Given the description of an element on the screen output the (x, y) to click on. 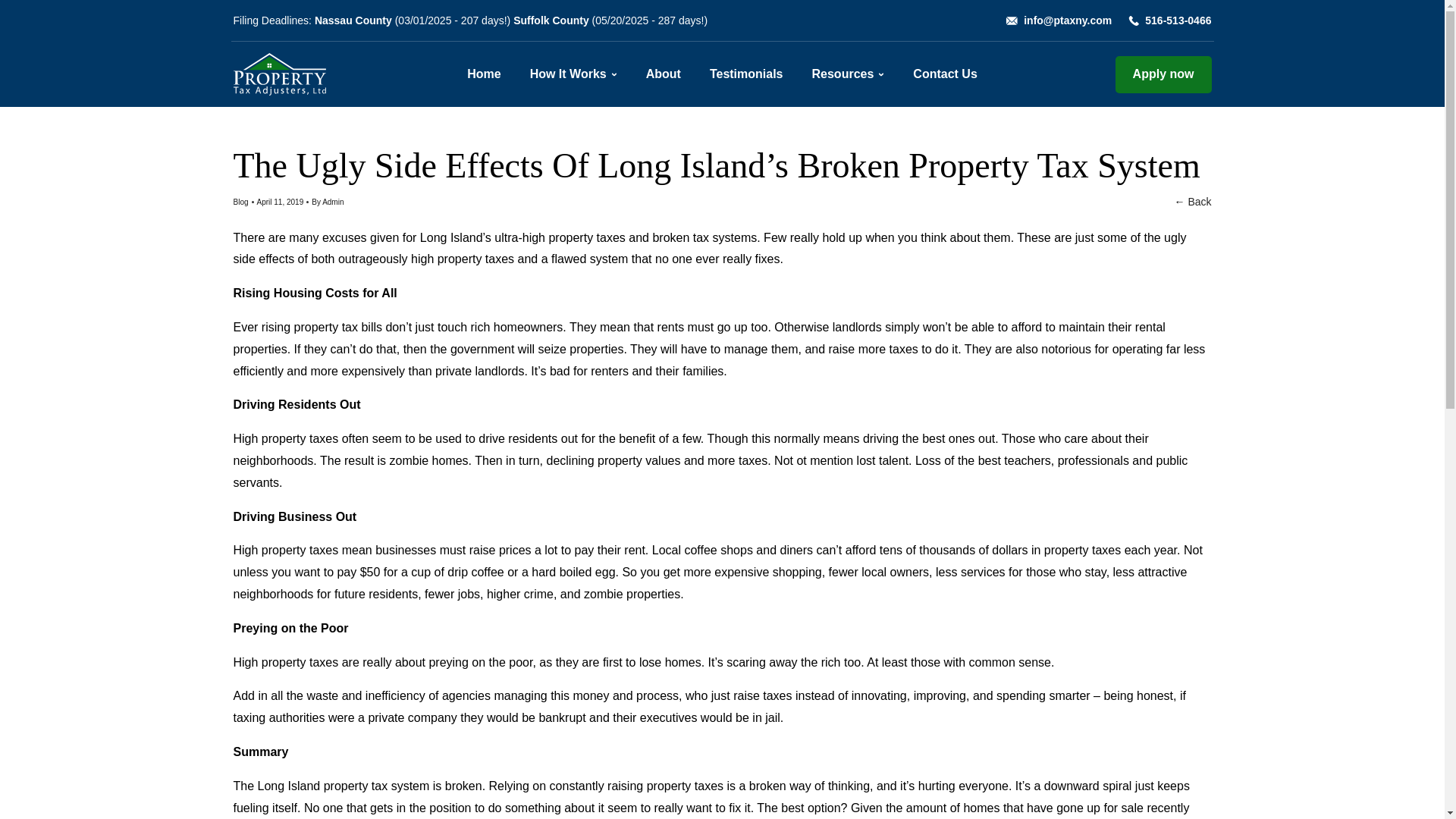
Contact Us (944, 74)
Apply now (1163, 74)
About (663, 74)
Testimonials (746, 74)
516-513-0466 (1177, 20)
Home (483, 74)
Back (1199, 201)
How It Works (568, 74)
Resources (843, 74)
